Given the description of an element on the screen output the (x, y) to click on. 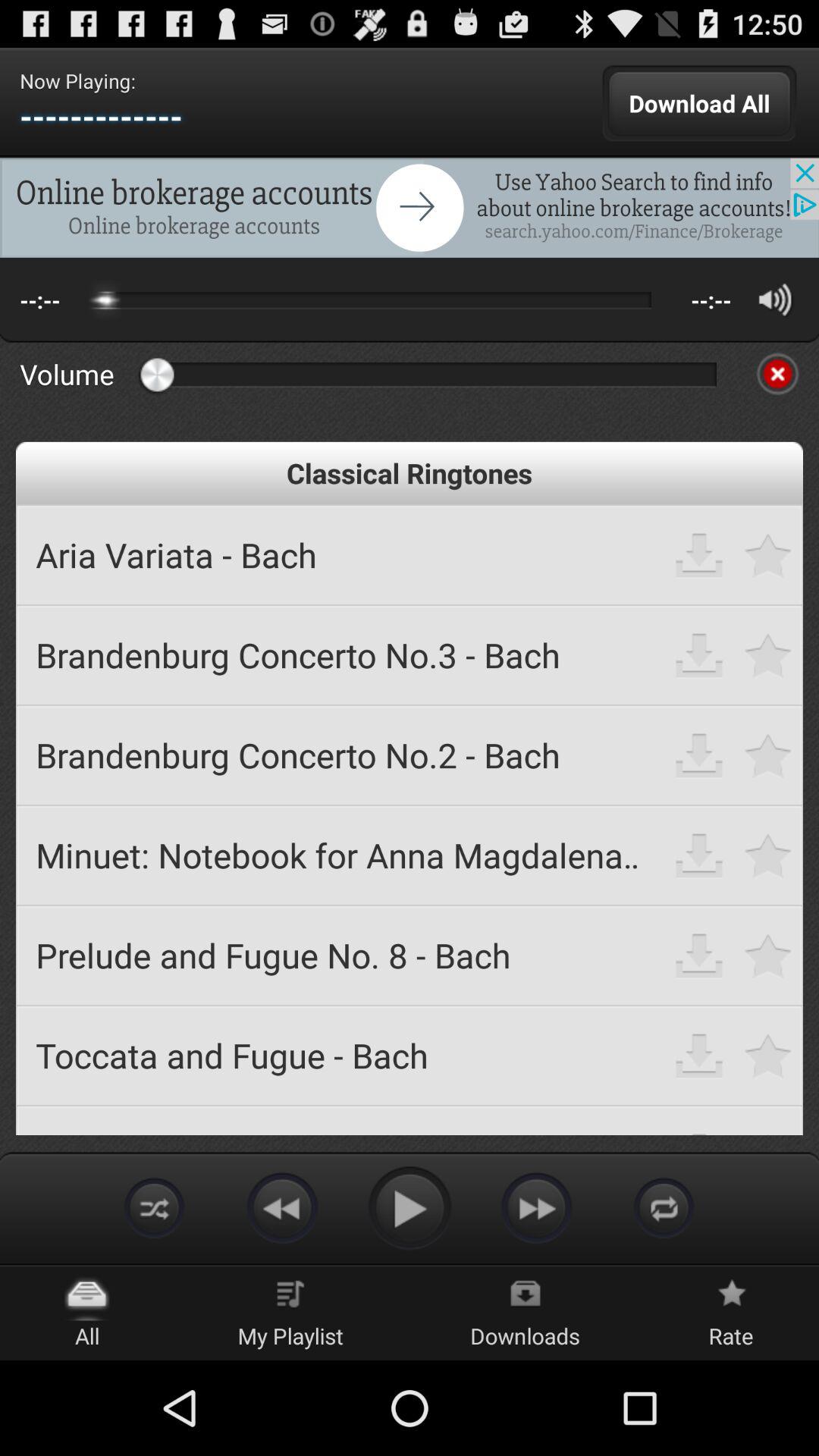
favorite ringtone (768, 754)
